Given the description of an element on the screen output the (x, y) to click on. 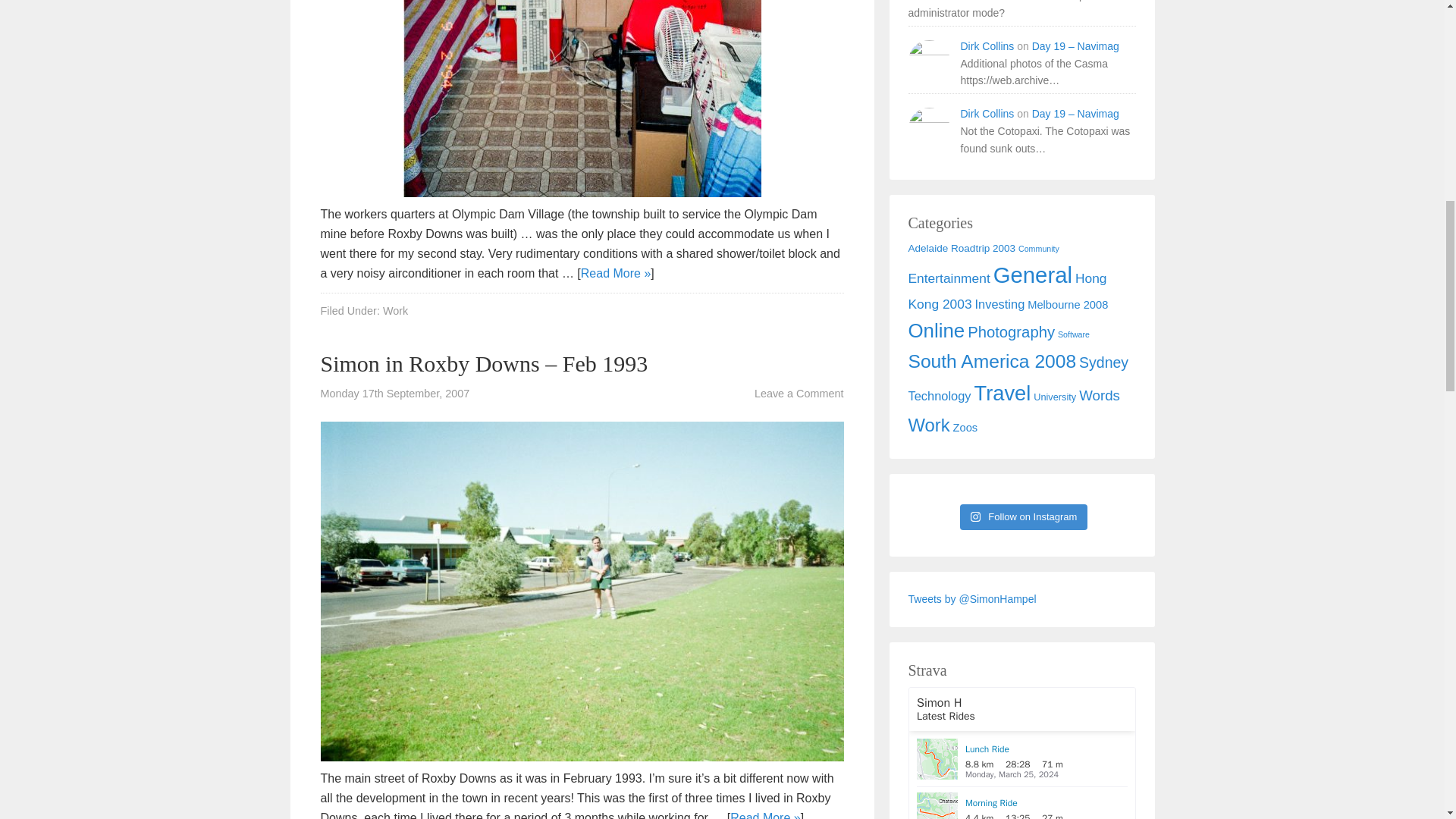
Work (394, 310)
Leave a Comment (799, 393)
